Given the description of an element on the screen output the (x, y) to click on. 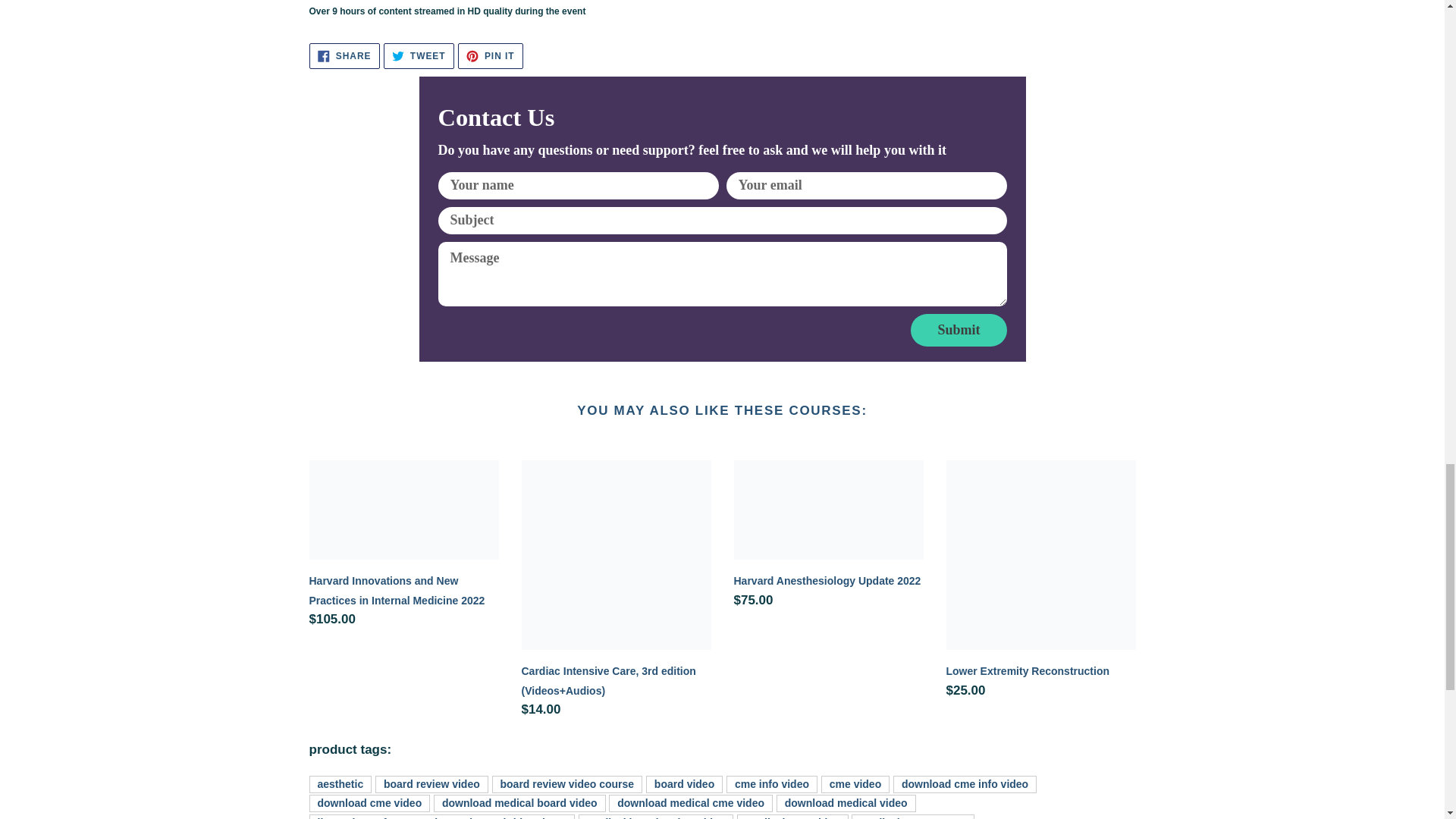
aesthetic (490, 55)
Submit (340, 784)
Harvard Anesthesiology Update 2022 (958, 329)
board review video (828, 537)
board video (431, 784)
board review video course (684, 784)
cme info video (419, 55)
